Given the description of an element on the screen output the (x, y) to click on. 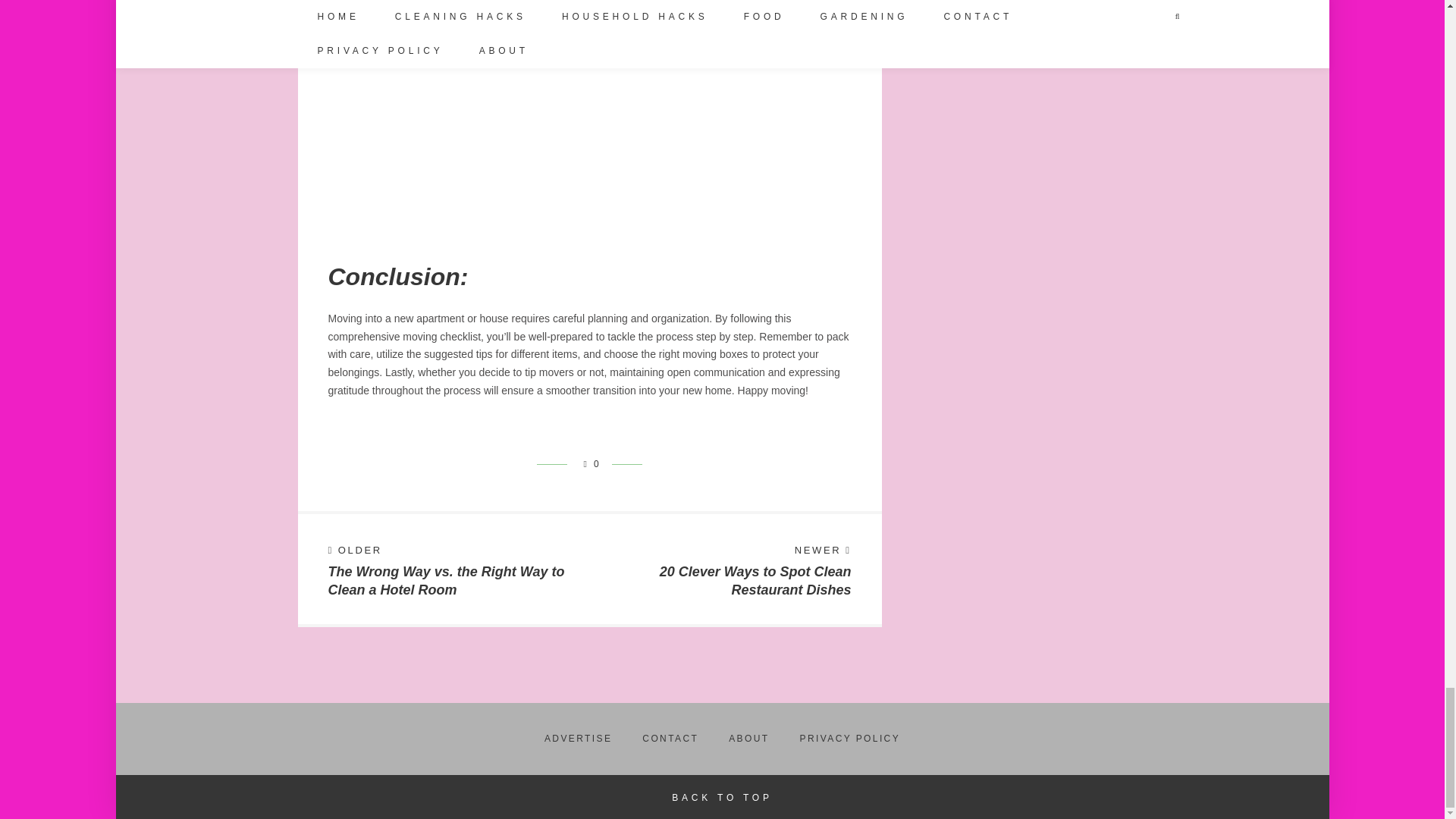
0 (588, 463)
PRIVACY POLICY (850, 738)
CONTACT (670, 738)
ADVERTISE (577, 738)
ABOUT (748, 738)
